Given the description of an element on the screen output the (x, y) to click on. 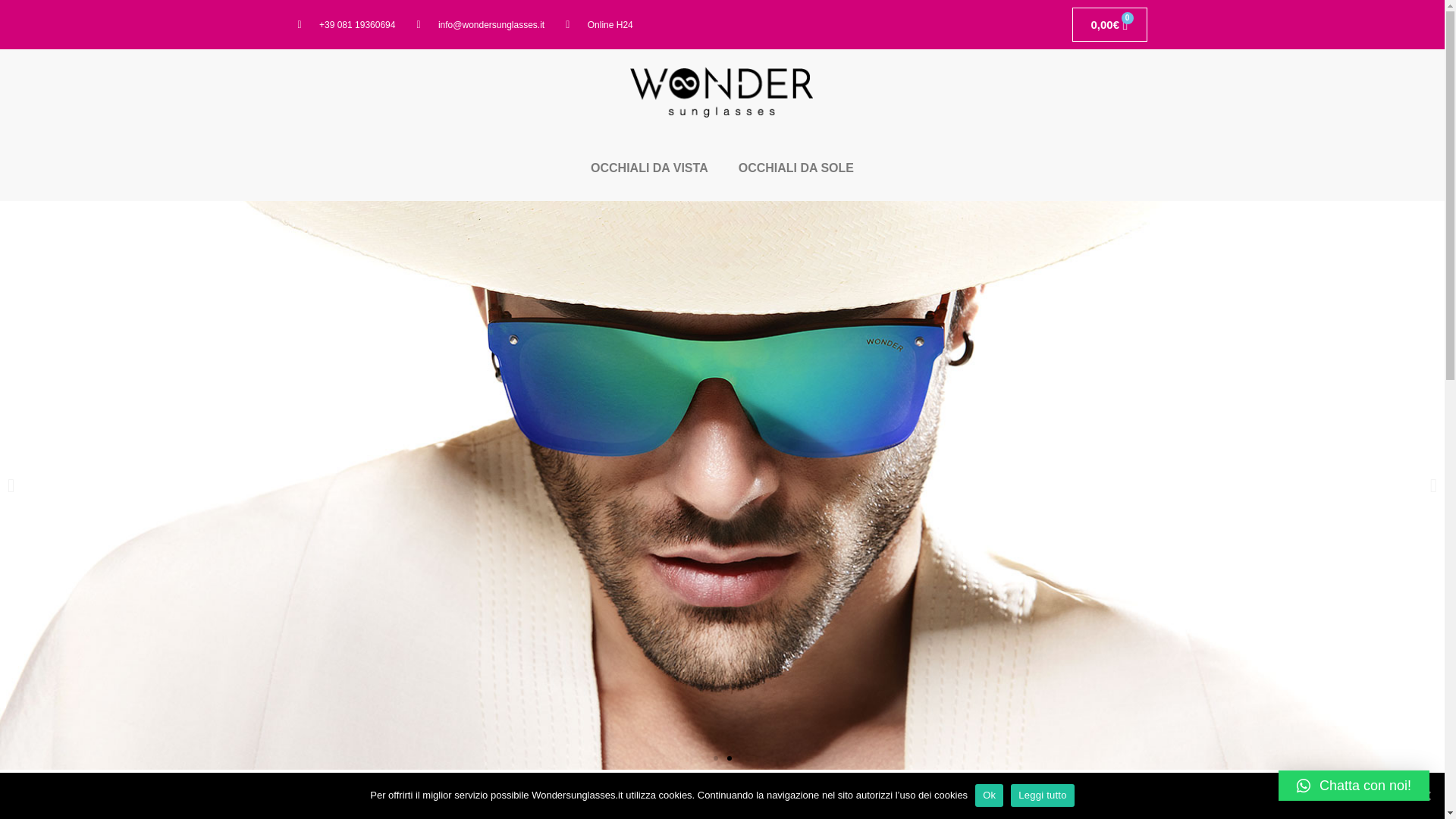
OCCHIALI DA SOLE (796, 167)
Leggi tutto (1042, 794)
Ok (989, 794)
Chatta con noi! (1353, 785)
OCCHIALI DA VISTA (649, 167)
